Given the description of an element on the screen output the (x, y) to click on. 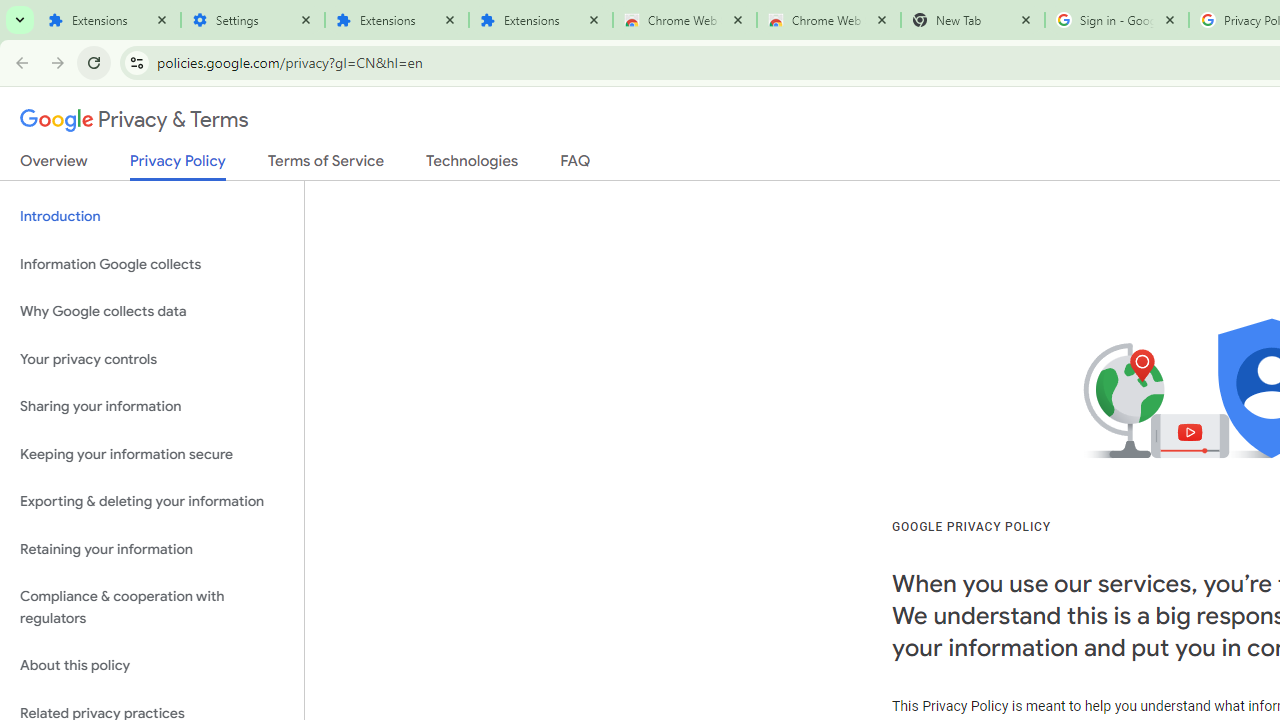
Your privacy controls (152, 358)
About this policy (152, 666)
Sign in - Google Accounts (1116, 20)
Information Google collects (152, 263)
Exporting & deleting your information (152, 502)
Extensions (540, 20)
Keeping your information secure (152, 453)
Retaining your information (152, 548)
Chrome Web Store - Themes (828, 20)
Settings (252, 20)
